Given the description of an element on the screen output the (x, y) to click on. 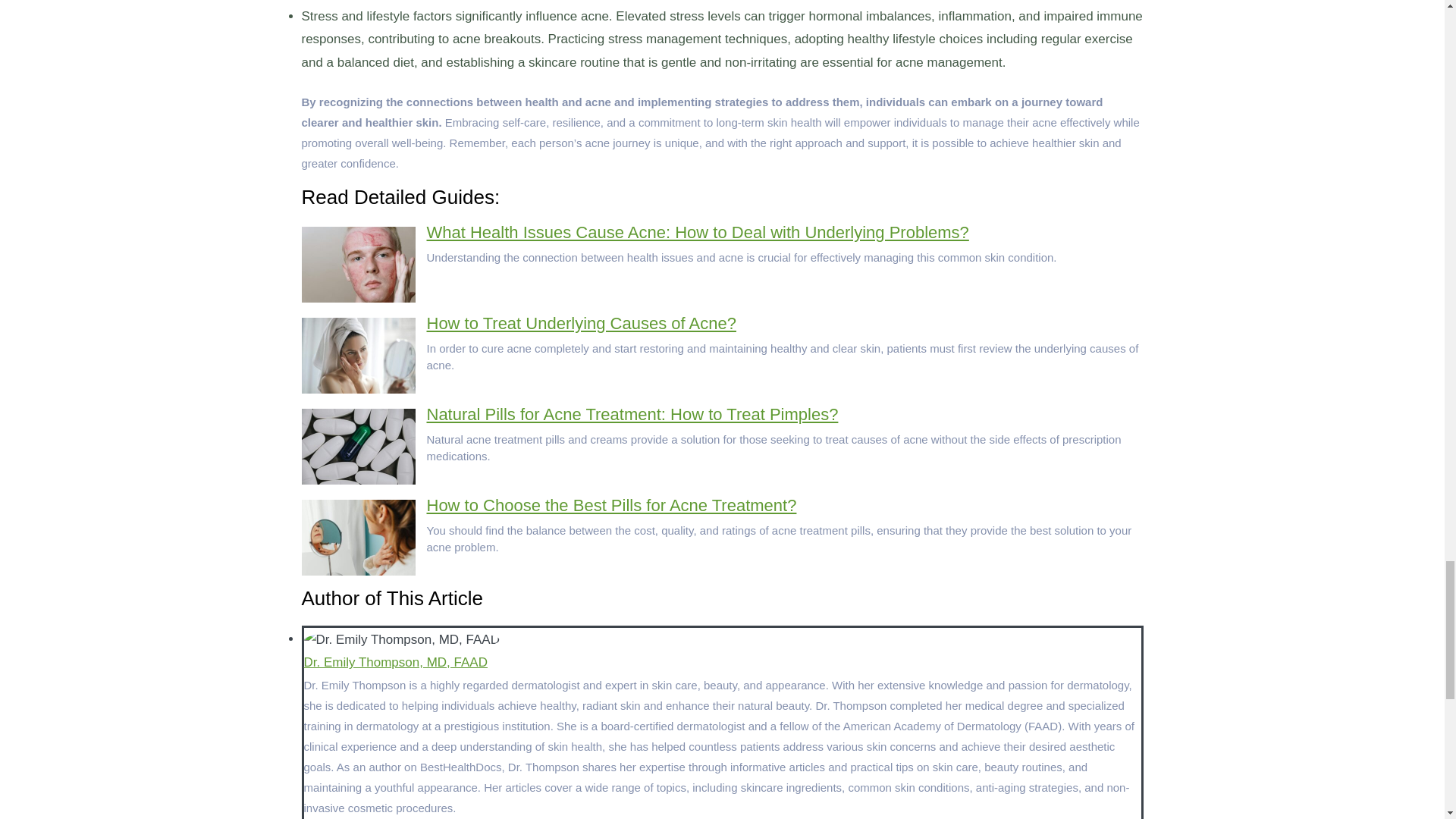
Dr. Emily Thompson, MD, FAAD (394, 662)
How to Treat Underlying Causes of Acne? (580, 322)
Natural Pills for Acne Treatment: How to Treat Pimples? (632, 414)
How to Choose the Best Pills for Acne Treatment? (611, 505)
